Given the description of an element on the screen output the (x, y) to click on. 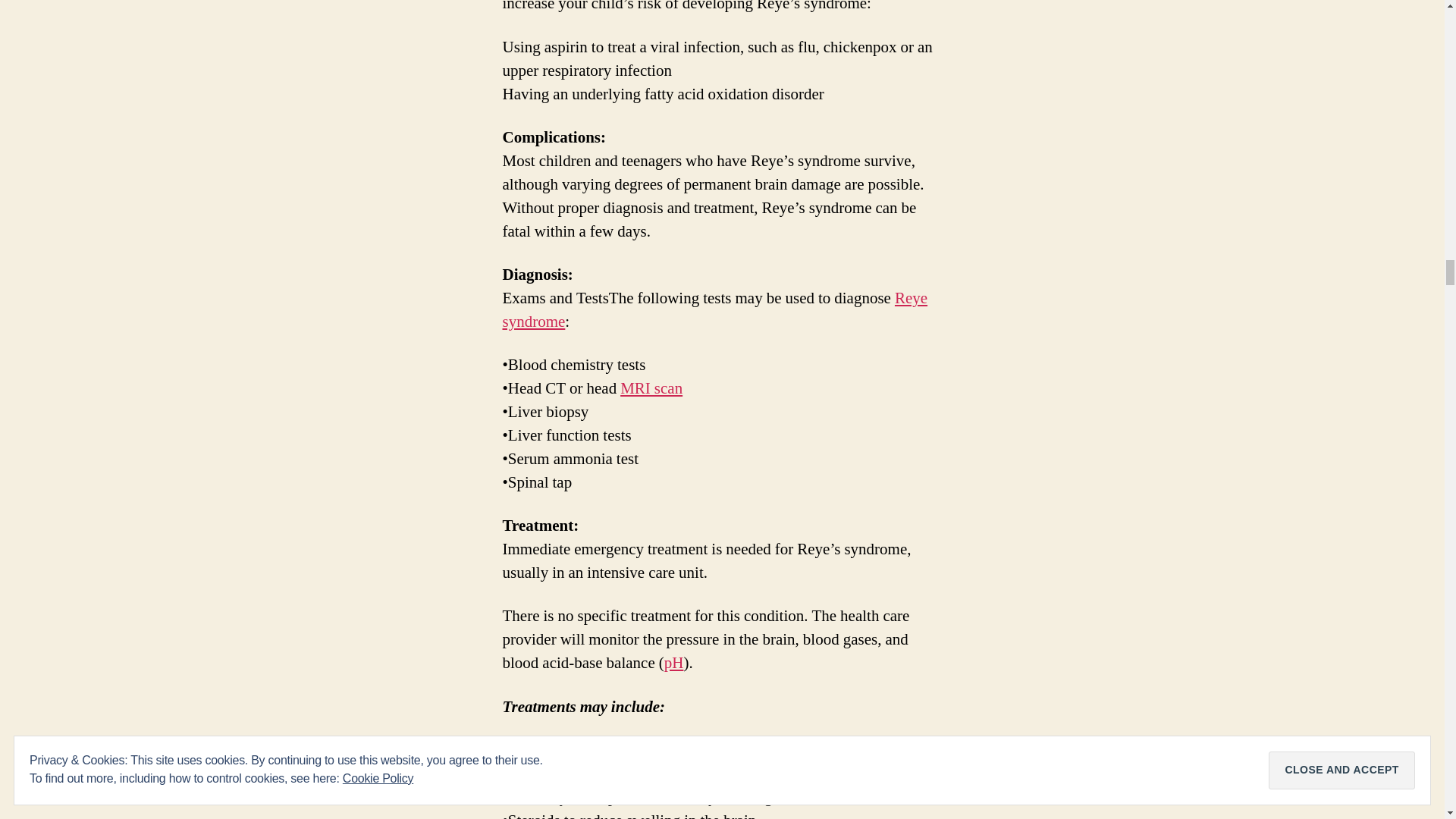
Reye's syndrome (714, 310)
